Given the description of an element on the screen output the (x, y) to click on. 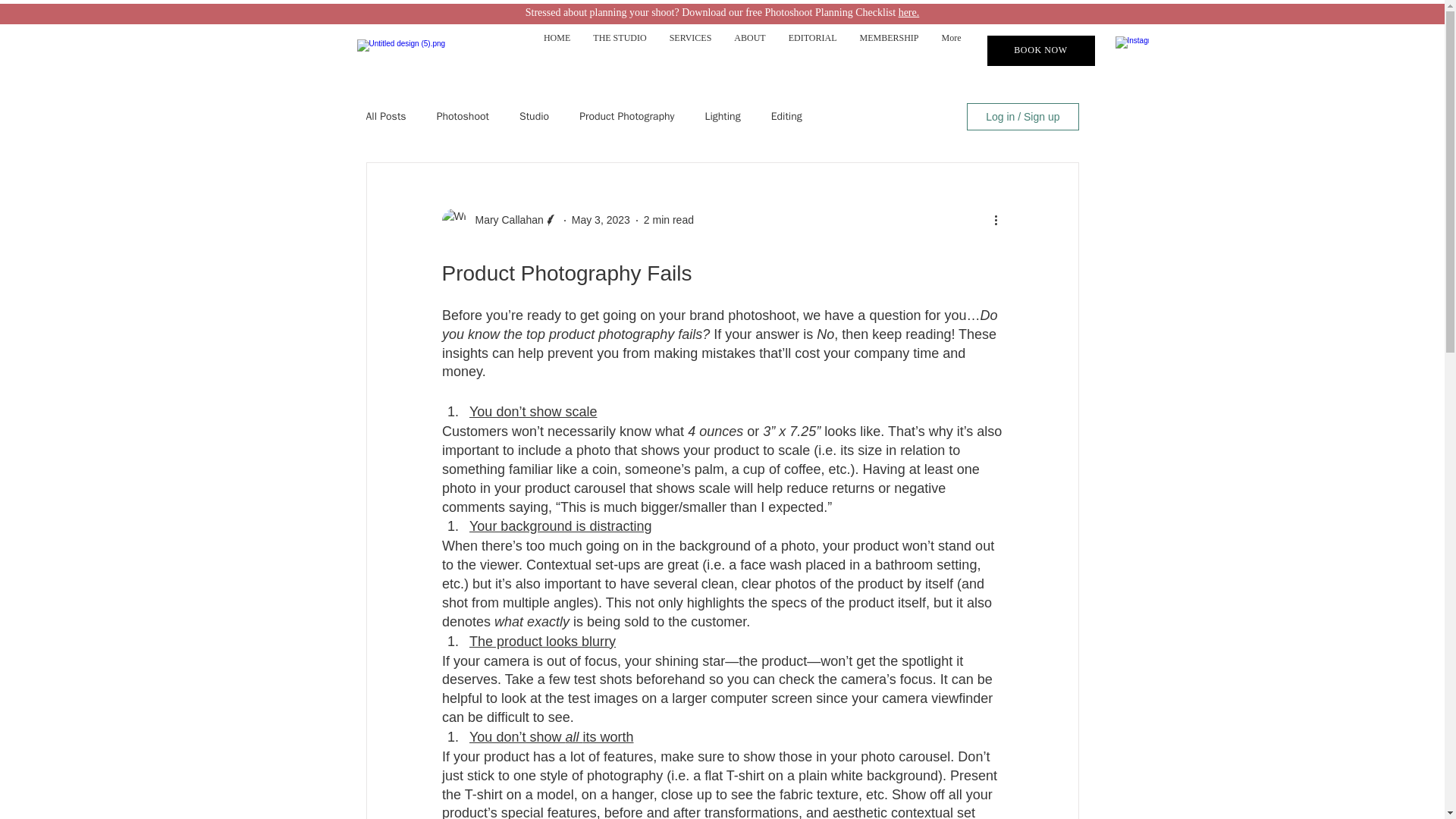
2 min read (668, 219)
MEMBERSHIP (888, 50)
Product Photography (626, 116)
HOME (556, 50)
THE STUDIO (619, 50)
EDITORIAL (812, 50)
ABOUT (749, 50)
Lighting (721, 116)
Mary Callahan (504, 220)
Photoshoot (462, 116)
